Given the description of an element on the screen output the (x, y) to click on. 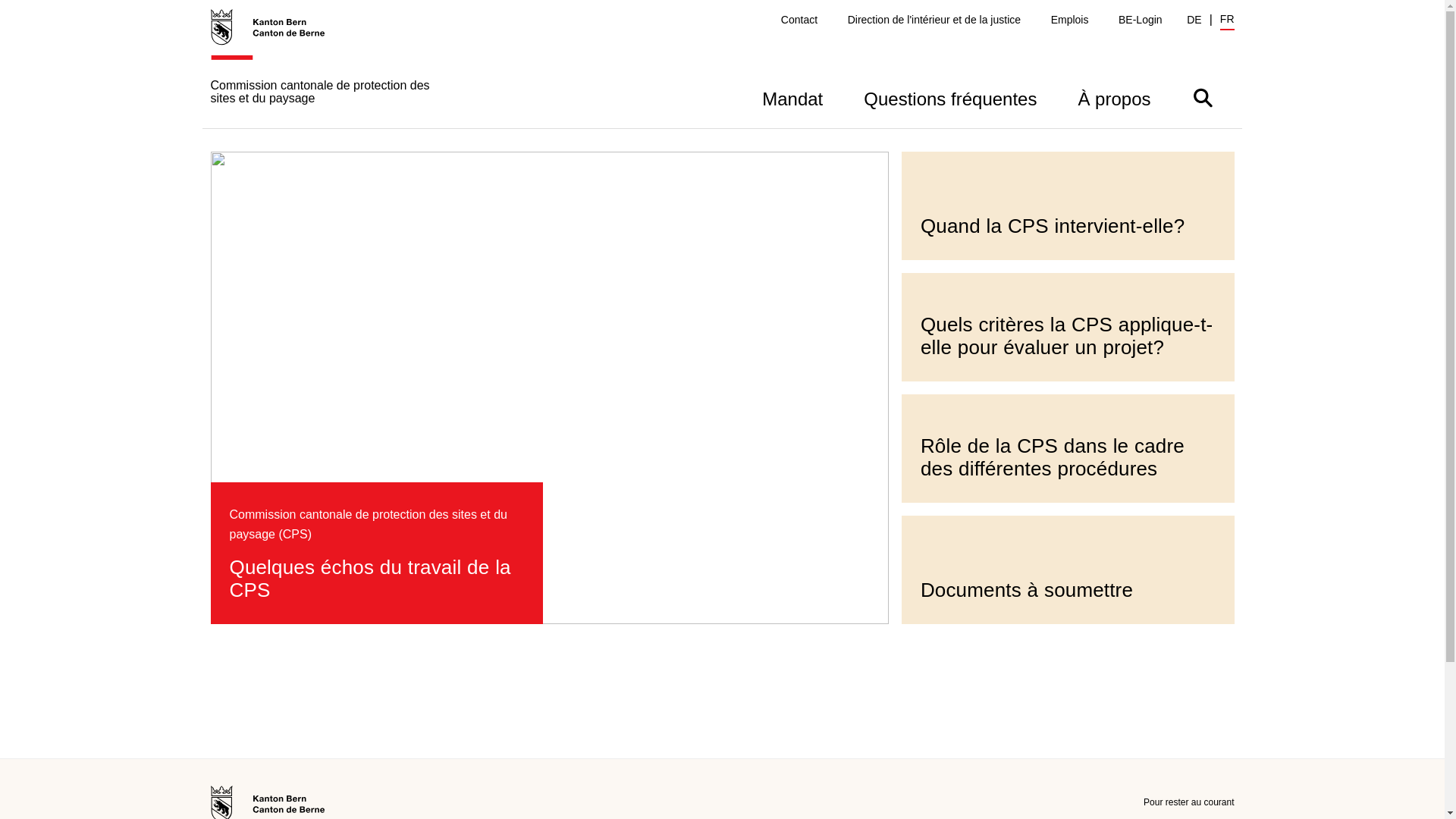
DE Element type: text (1193, 19)
Afficher/masquer la barre de recherche Element type: text (1201, 96)
Quand la CPS intervient-elle? Element type: text (1067, 205)
Emplois Element type: text (1069, 19)
FR Element type: text (1227, 21)
BE-Login Element type: text (1140, 19)
Commission cantonale de protection des sites et du paysage Element type: text (331, 68)
Mandat Element type: text (792, 96)
Contact Element type: text (799, 19)
